Given the description of an element on the screen output the (x, y) to click on. 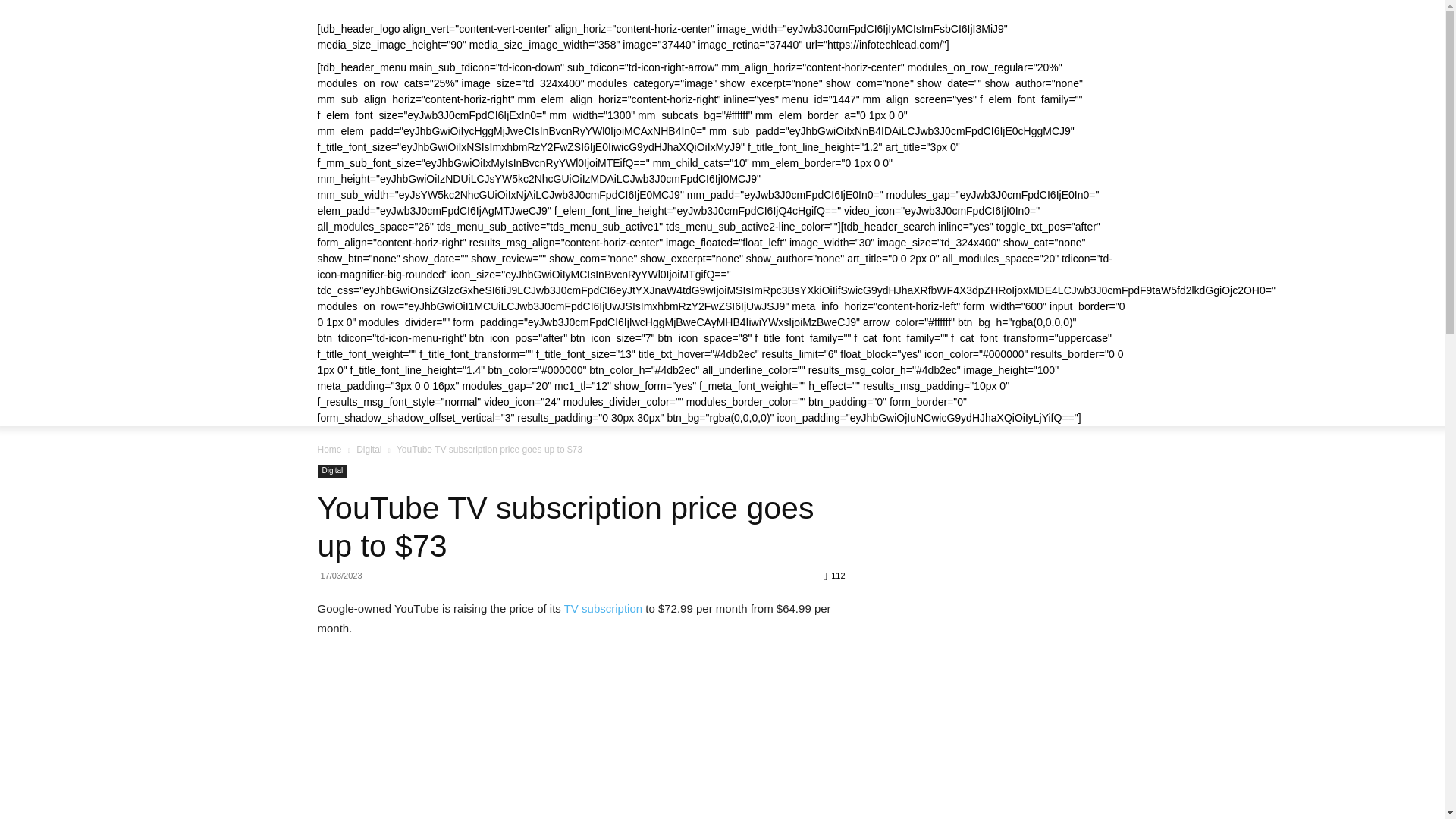
Digital (332, 471)
TV subscription (603, 608)
Digital (368, 449)
Advertisement (1003, 751)
Home (328, 449)
View all posts in Digital (368, 449)
Advertisement (1003, 559)
